Given the description of an element on the screen output the (x, y) to click on. 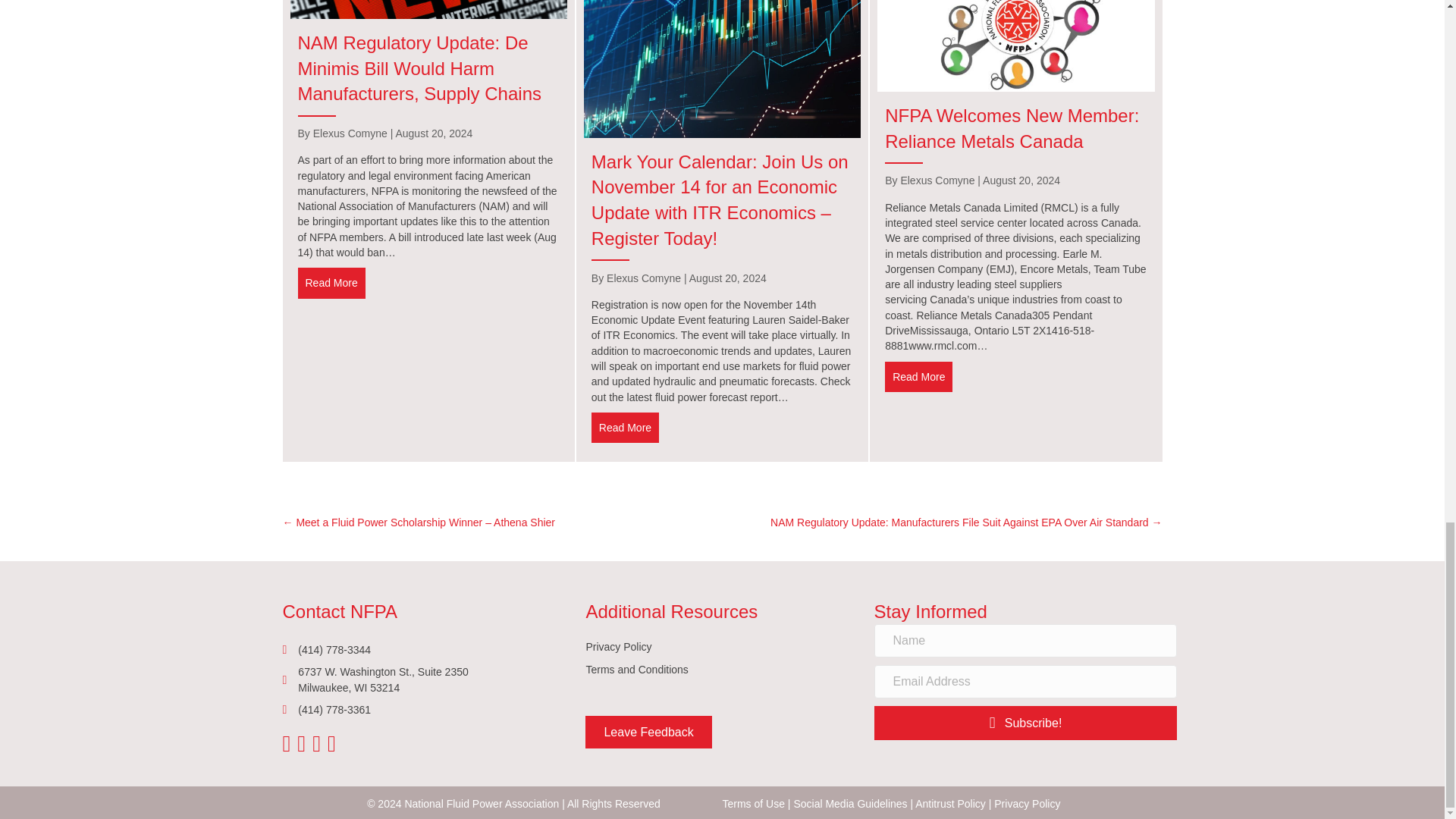
NFPA Welcomes New Member: Reliance Metals Canada (918, 376)
NFPA Welcomes New Member: Reliance Metals Canada (1011, 128)
News (427, 9)
Membership (1015, 45)
